Given the description of an element on the screen output the (x, y) to click on. 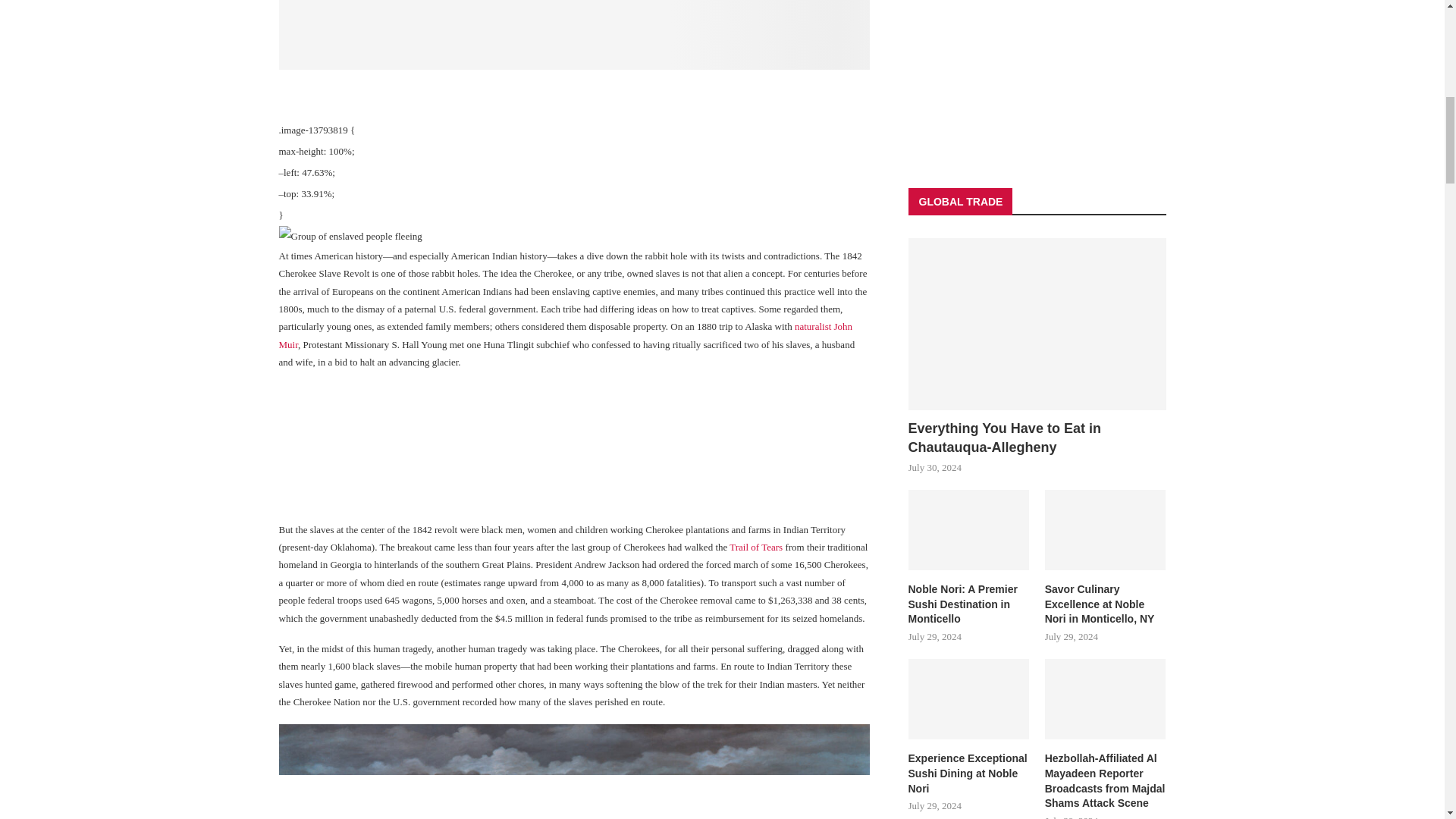
Everything You Have to Eat in Chautauqua-Allegheny (1037, 324)
